Given the description of an element on the screen output the (x, y) to click on. 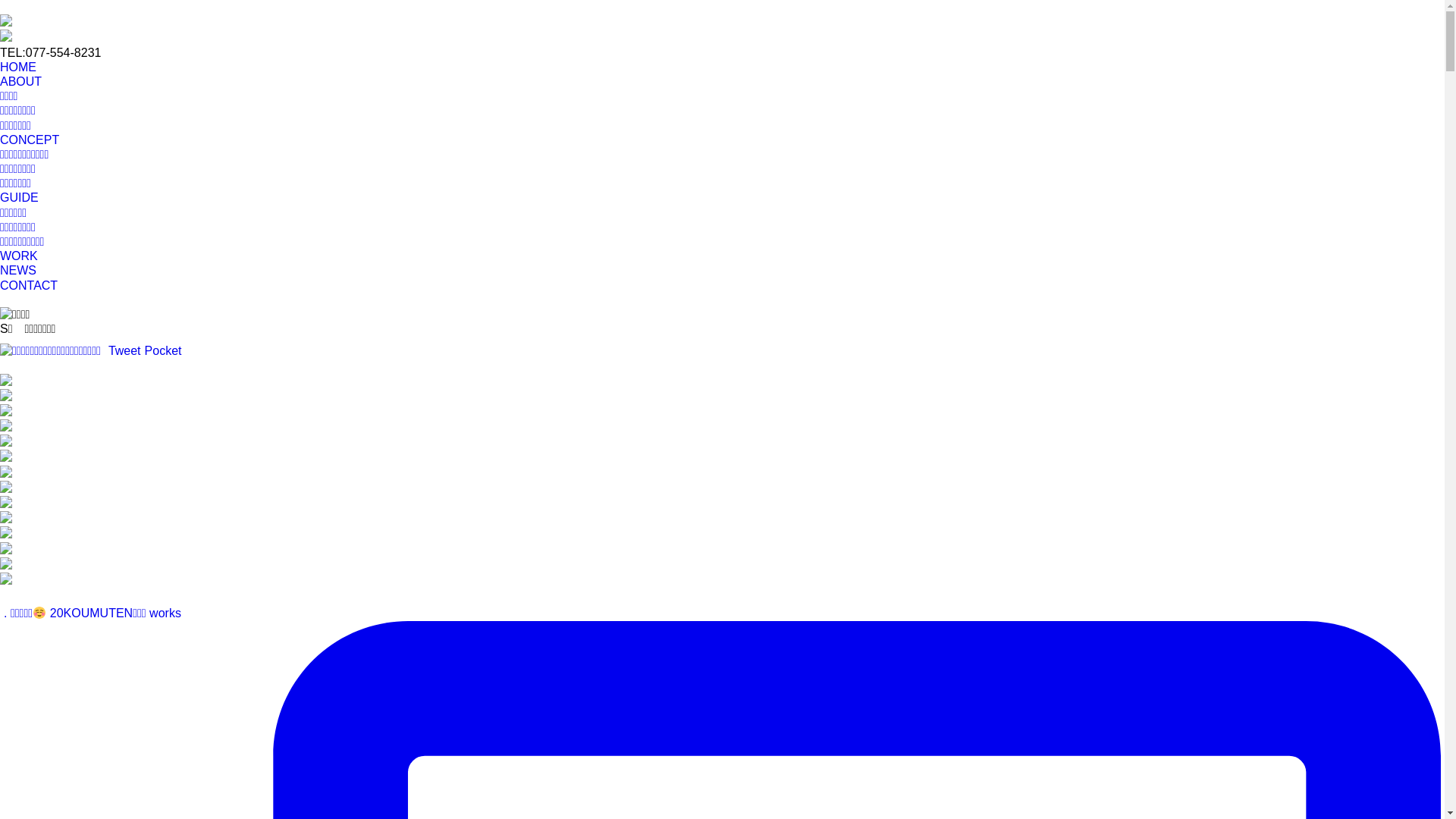
Pocket Element type: text (163, 350)
NEWS Element type: text (18, 269)
HOME Element type: text (18, 66)
CONTACT Element type: text (28, 285)
CONCEPT Element type: text (29, 139)
WORK Element type: text (18, 255)
Tweet Element type: text (124, 350)
GUIDE Element type: text (19, 197)
ABOUT Element type: text (20, 81)
